Given the description of an element on the screen output the (x, y) to click on. 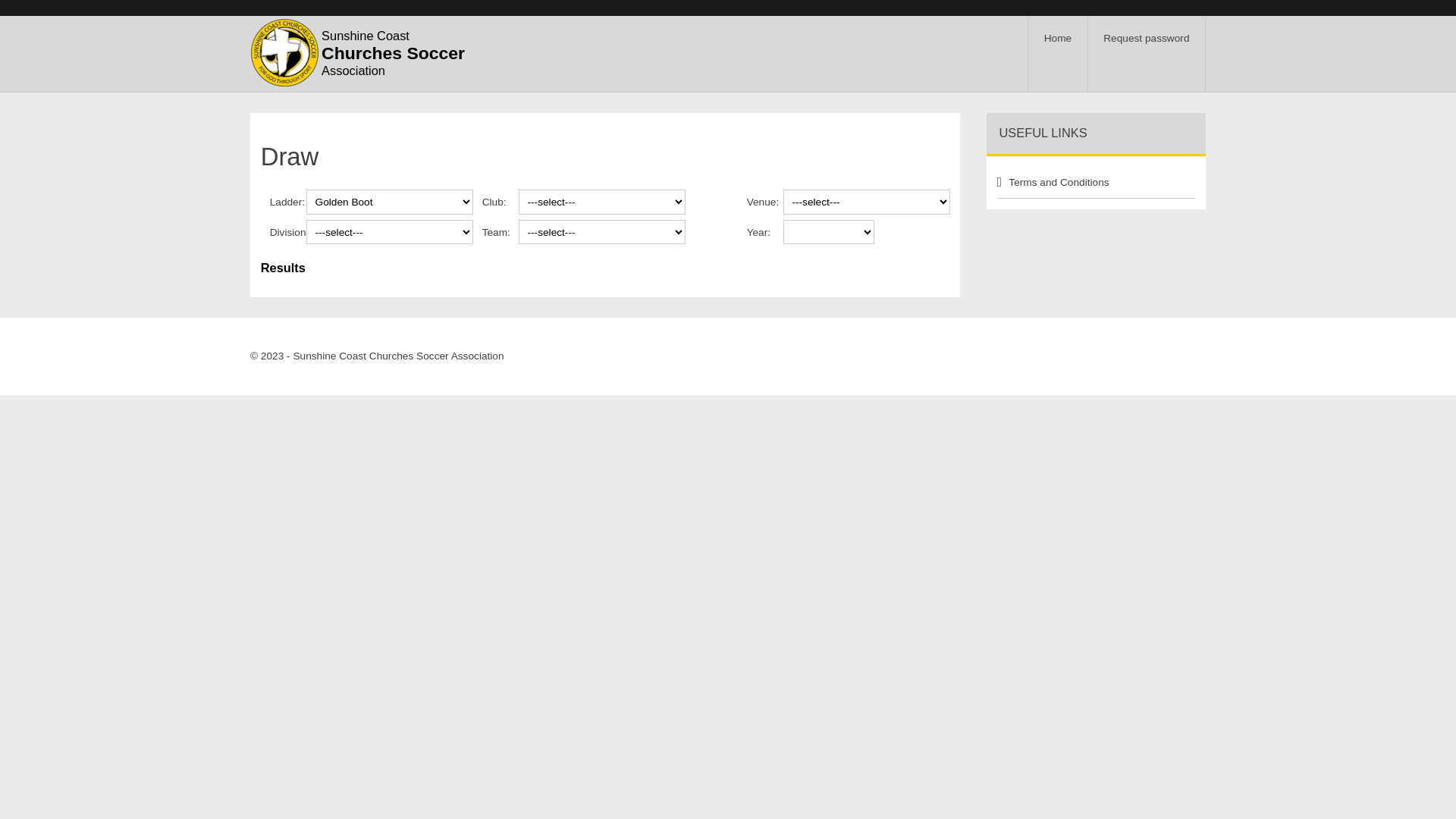
Request password Element type: text (1146, 57)
Home Element type: text (1057, 57)
$$$COMPANYNAME$$$ Element type: hover (284, 52)
Terms and Conditions Element type: text (1082, 183)
